Given the description of an element on the screen output the (x, y) to click on. 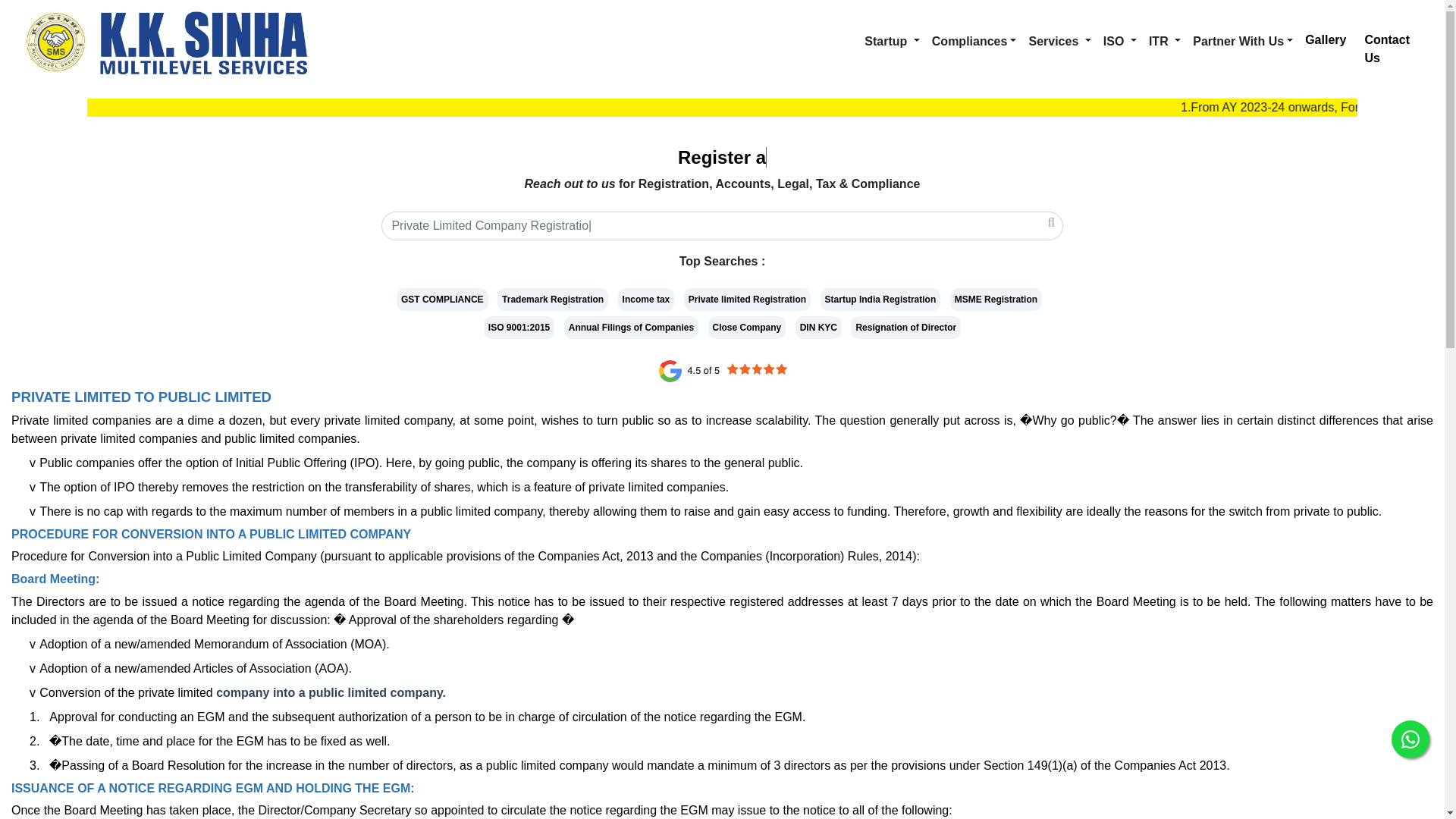
Compliances (974, 40)
Startup (892, 40)
